Given the description of an element on the screen output the (x, y) to click on. 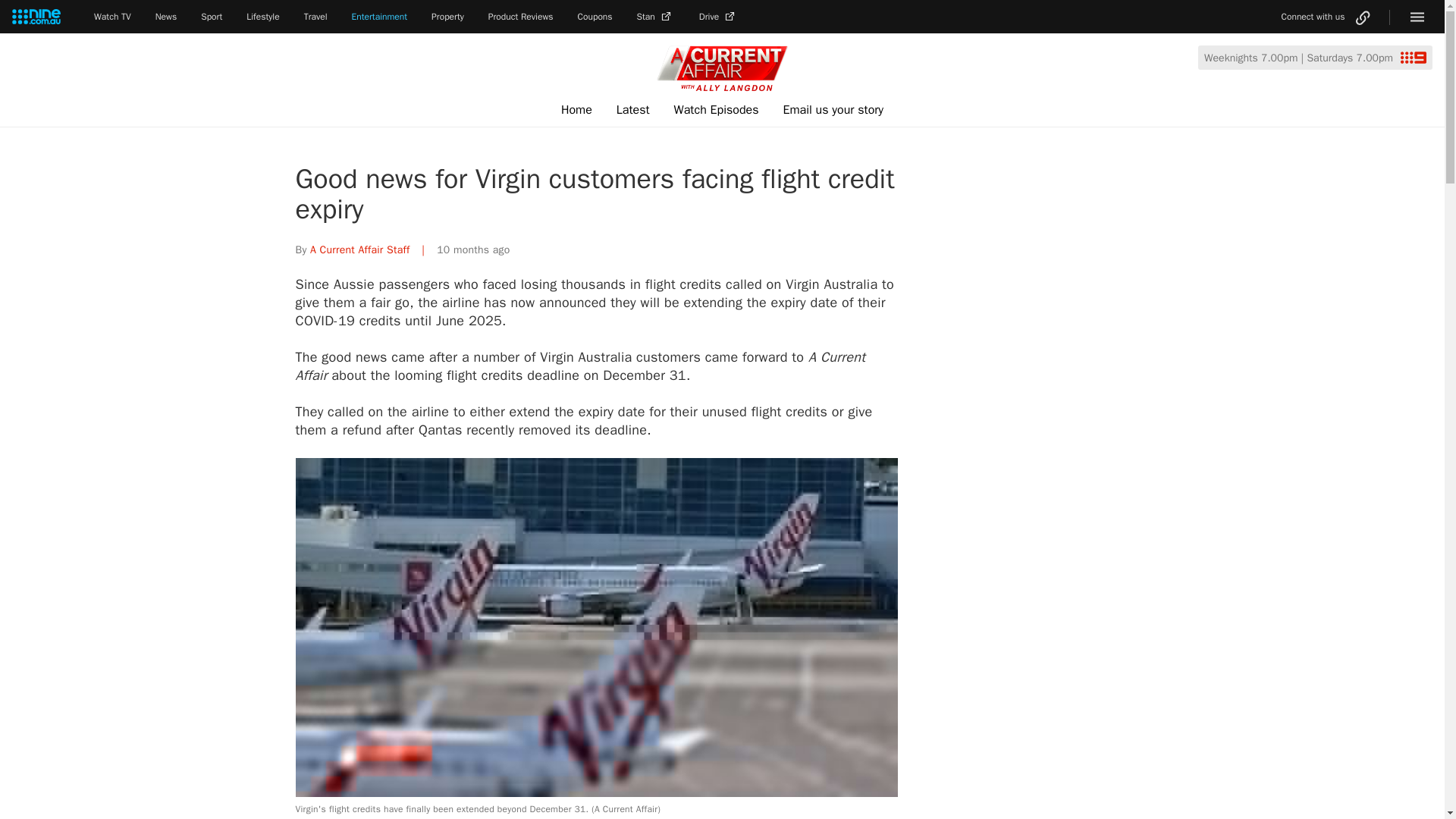
Drive (718, 16)
A Current Affair Staff (359, 249)
Product Reviews (520, 16)
Home (576, 109)
Latest (633, 109)
Lifestyle (262, 16)
Watch Episodes (716, 109)
Email us your story (832, 109)
Coupons (595, 16)
Stan (656, 16)
Watch TV (112, 16)
Property (447, 16)
Entertainment (379, 16)
